Given the description of an element on the screen output the (x, y) to click on. 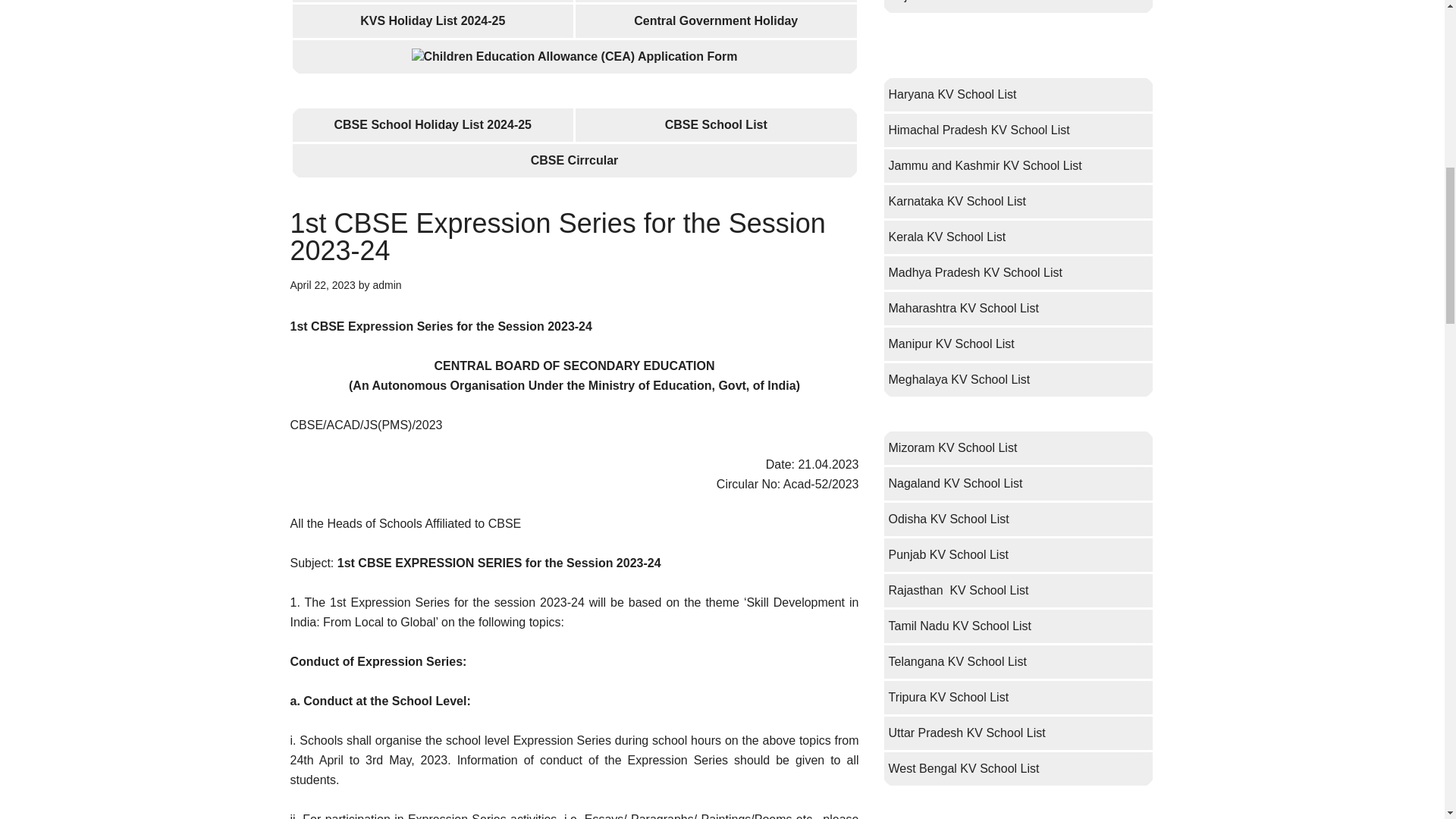
Central Government Holiday (715, 20)
CBSE School List (716, 124)
CBSE Cirrcular (574, 160)
KVS Holiday List 2024-25 (432, 20)
admin (386, 285)
CBSE School Holiday List 2024-25 (432, 124)
